Given the description of an element on the screen output the (x, y) to click on. 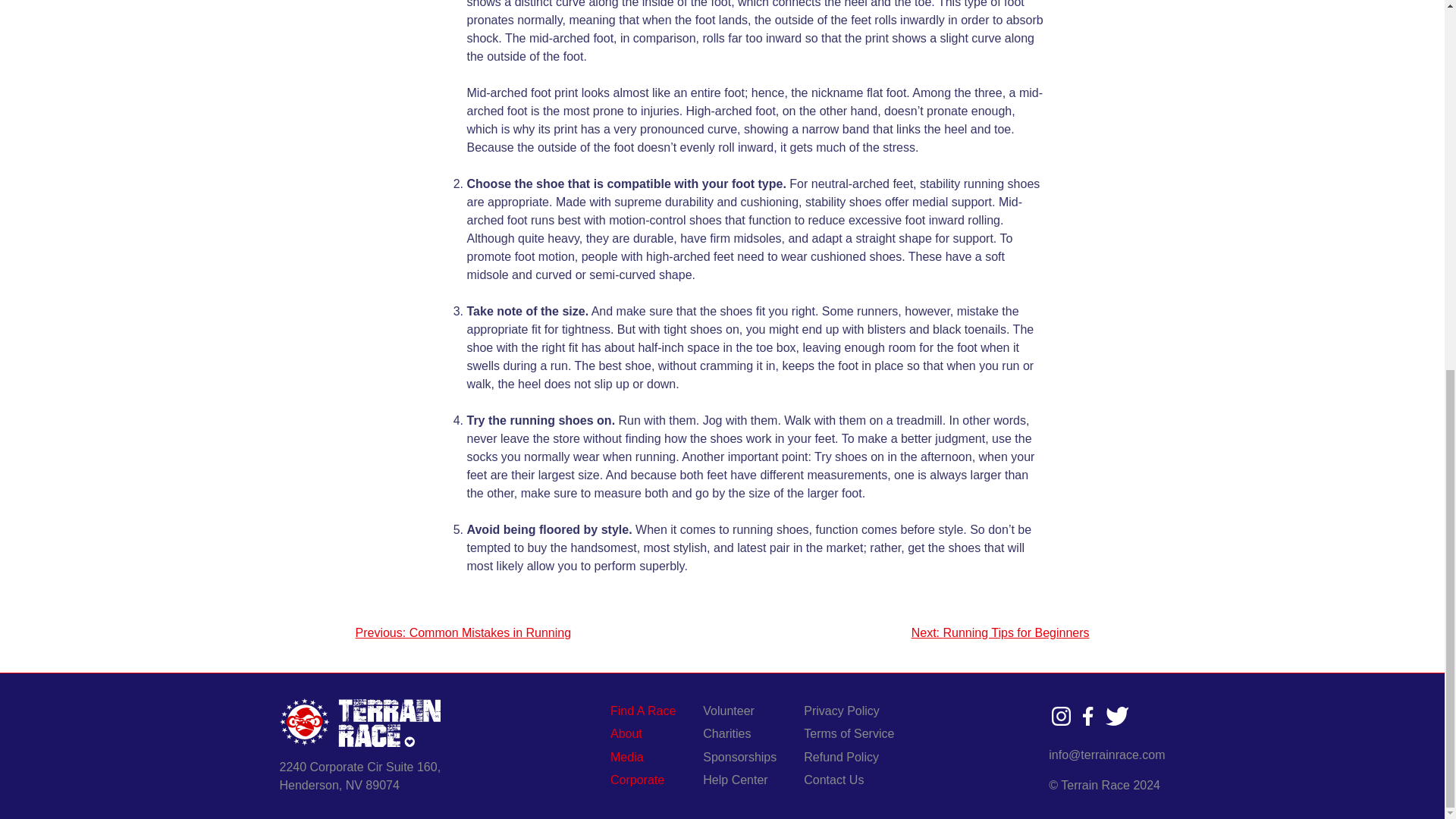
Refund Policy (841, 756)
Help Center (735, 779)
Previous: Common Mistakes in Running (462, 632)
Privacy Policy (841, 710)
Sponsorships (740, 756)
Terms of Service (848, 733)
Next: Running Tips for Beginners (1000, 632)
Contact Us (833, 779)
About (625, 733)
Media (626, 756)
